Given the description of an element on the screen output the (x, y) to click on. 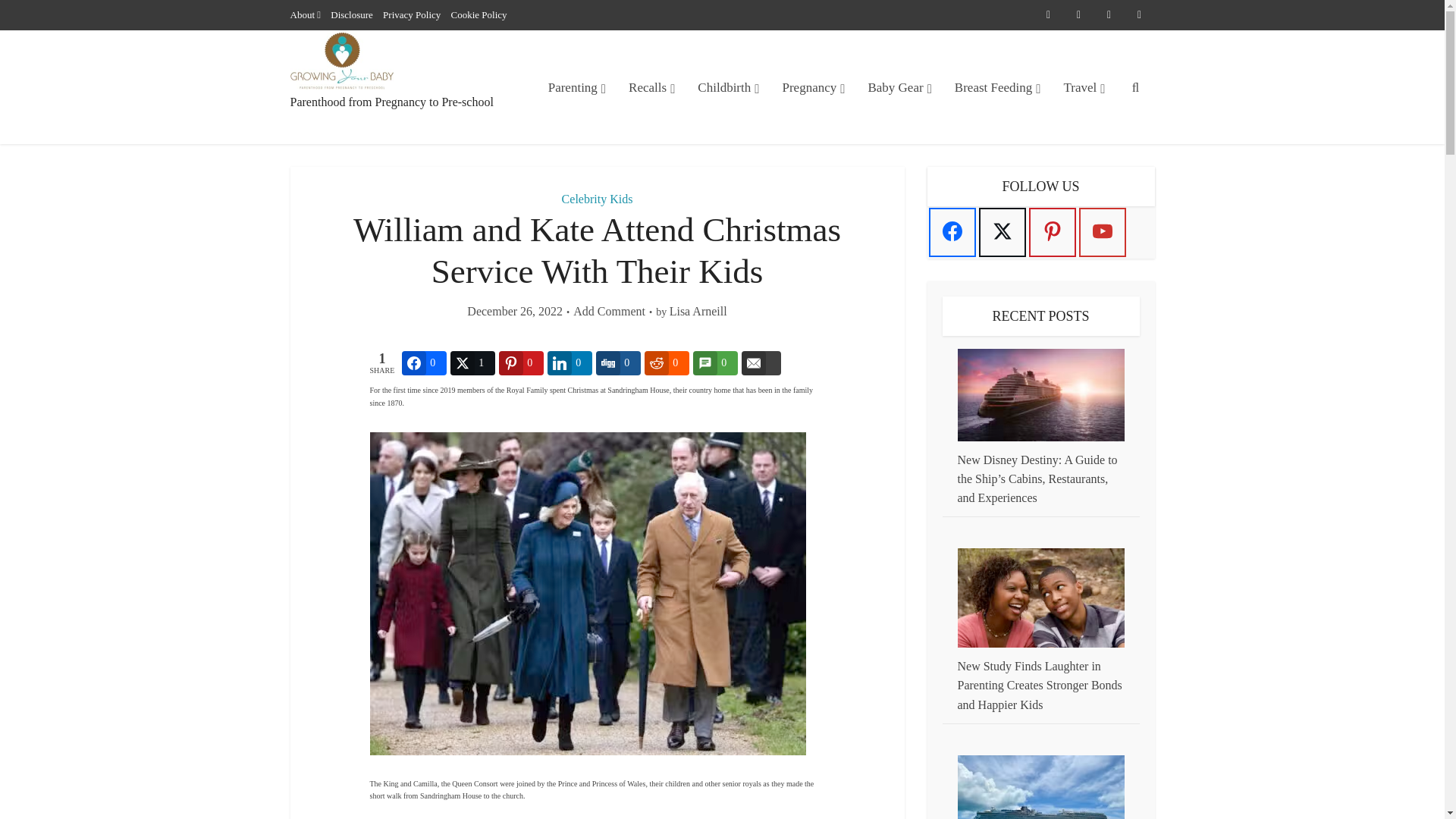
Share on Pinterest (521, 363)
Breast Feeding (997, 87)
About (301, 14)
Share on Twitter (472, 363)
Share on Facebook (423, 363)
Share on Reddit (666, 363)
Lisa Arneill (697, 311)
Share on LinkedIn (569, 363)
Disclosure (351, 14)
0 (423, 363)
